Given the description of an element on the screen output the (x, y) to click on. 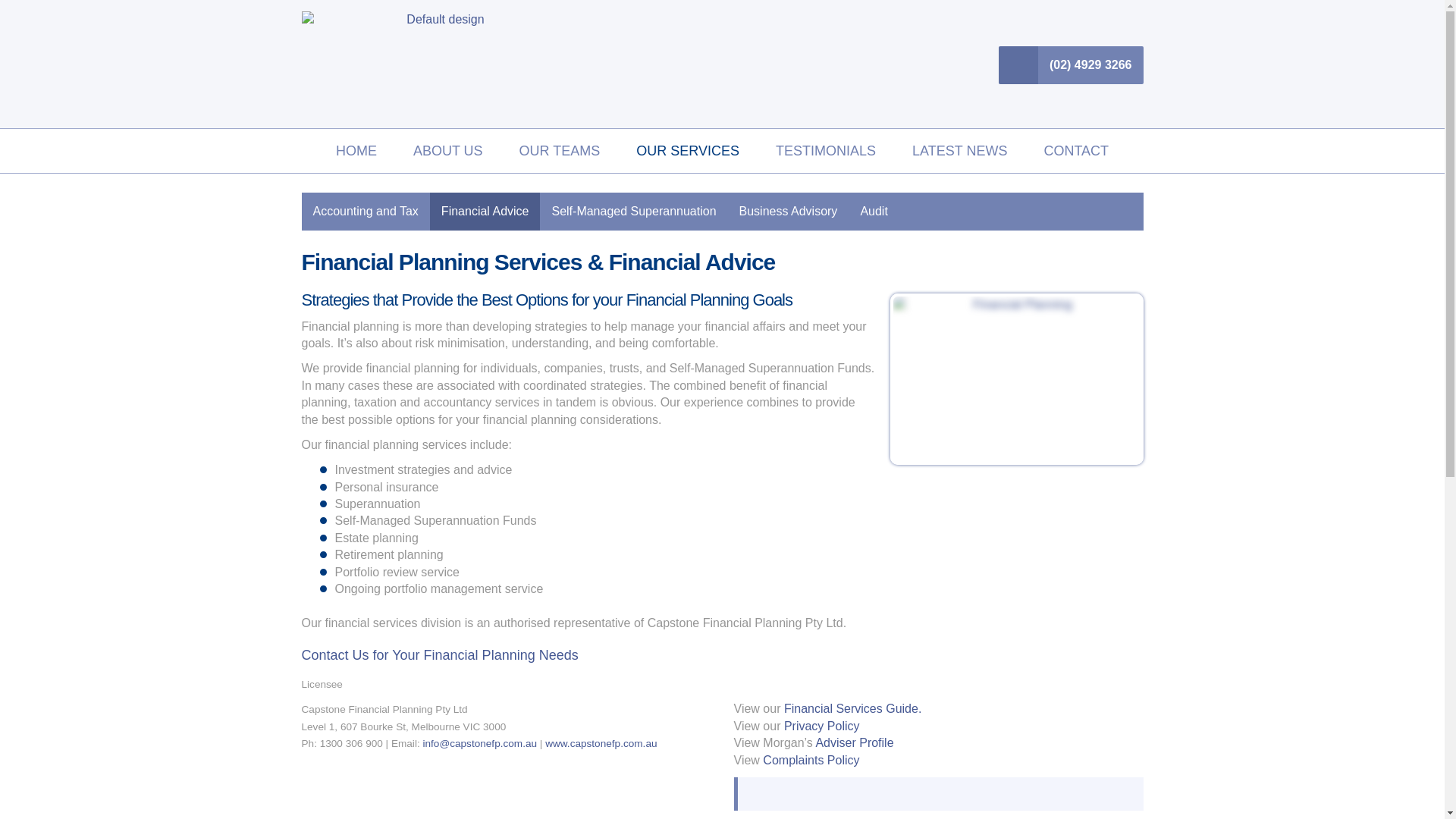
Complaints Policy Element type: text (810, 759)
Financial Advice Element type: text (484, 211)
Contact Us for Your Financial Planning Needs    Element type: text (445, 654)
Self-Managed Superannuation Element type: text (633, 211)
info@capstonefp.com.au Element type: text (479, 743)
HOME Element type: text (356, 150)
Accounting and Tax Element type: text (365, 211)
Business Advisory Element type: text (788, 211)
Financial Services Guide. Element type: text (852, 708)
(02) 4929 3266 Element type: text (1070, 65)
Audit Element type: text (873, 211)
Adviser Profile Element type: text (854, 742)
www.capstonefp.com.au Element type: text (600, 743)
OUR TEAMS Element type: text (559, 150)
CONTACT Element type: text (1075, 150)
OUR SERVICES Element type: text (687, 150)
LATEST NEWS Element type: text (959, 150)
TESTIMONIALS Element type: text (825, 150)
Privacy Policy Element type: text (821, 725)
ABOUT US Element type: text (448, 150)
